Given the description of an element on the screen output the (x, y) to click on. 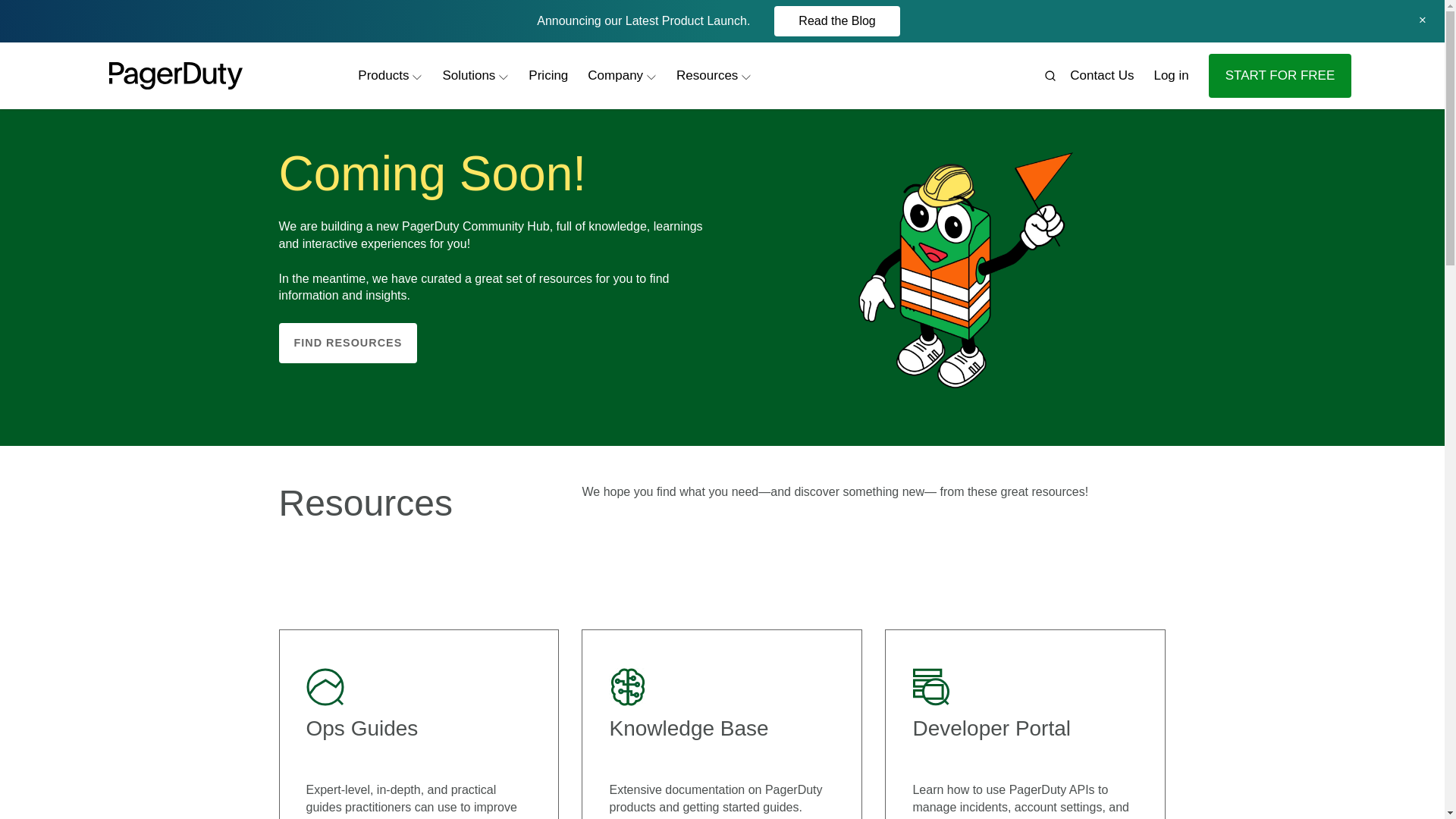
Pricing (718, 21)
Products (547, 75)
Company (390, 75)
START FOR FREE (621, 75)
Contact Us (1280, 75)
Solutions (1102, 75)
Resources (475, 75)
Log in (713, 75)
PagerDuty logo (1170, 75)
